Given the description of an element on the screen output the (x, y) to click on. 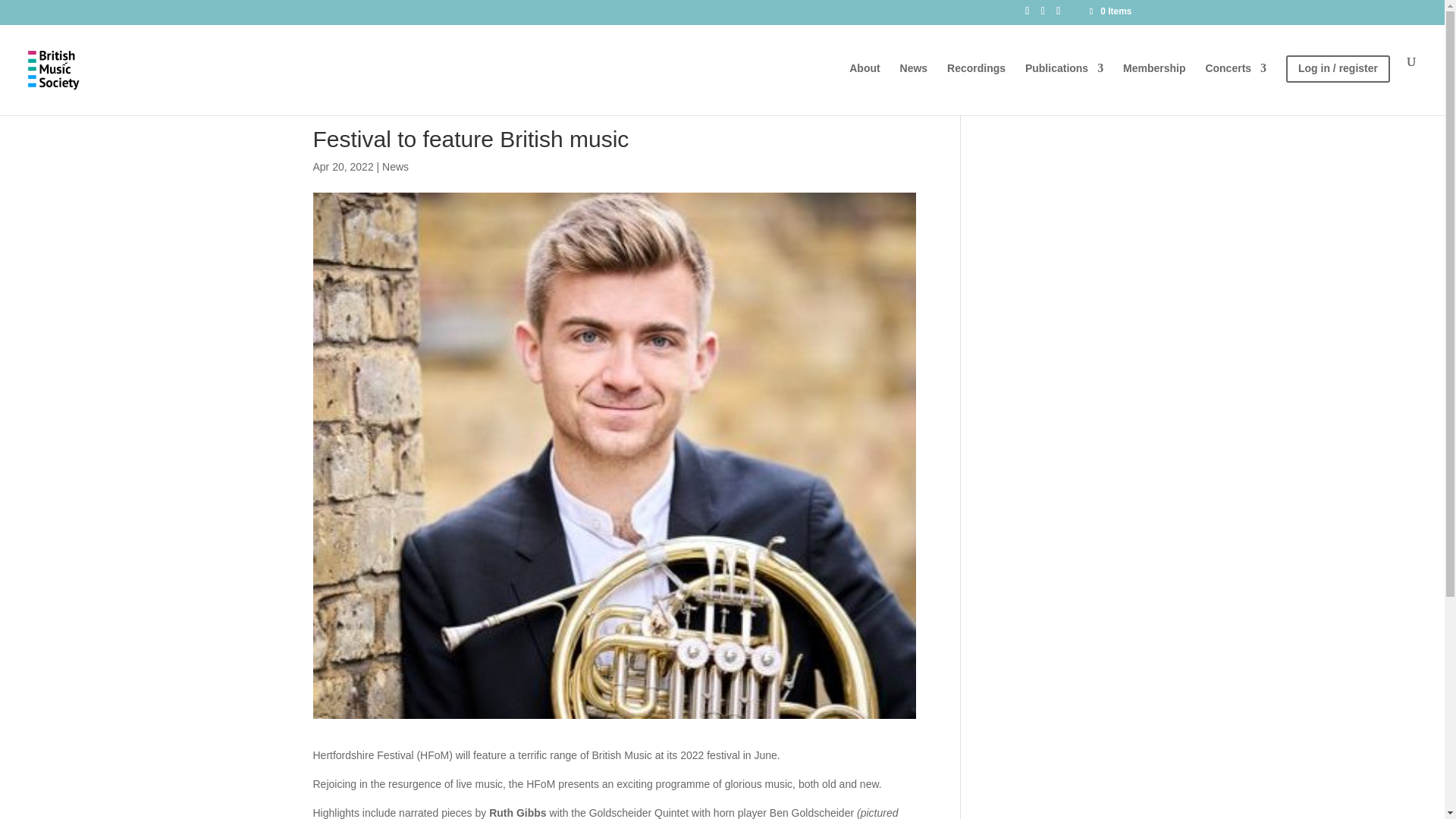
0 Items (1108, 10)
Membership (1153, 84)
News (395, 166)
Recordings (976, 84)
Publications (1064, 84)
Concerts (1235, 84)
